Given the description of an element on the screen output the (x, y) to click on. 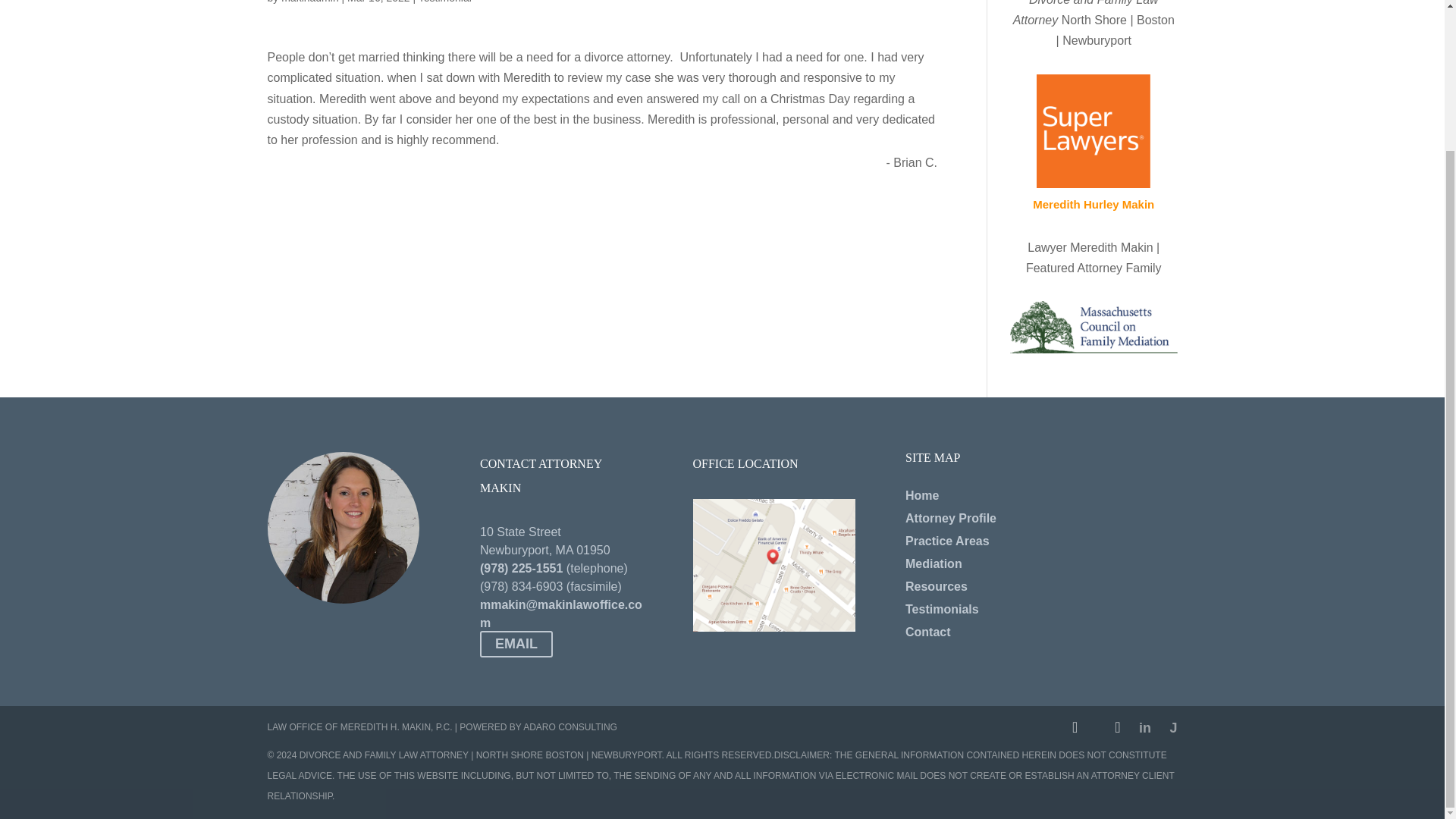
Meredith Hurley Makin (1093, 204)
Featured Attorney Family (1093, 267)
EMAIL (516, 643)
Practice Areas (947, 540)
Testimonial (445, 2)
Home (922, 495)
Lawyer Meredith Makin (1090, 246)
makinadmin (309, 2)
Adaro Consulting Web Development (569, 726)
Posts by makinadmin (309, 2)
Attorney Profile (950, 517)
